Given the description of an element on the screen output the (x, y) to click on. 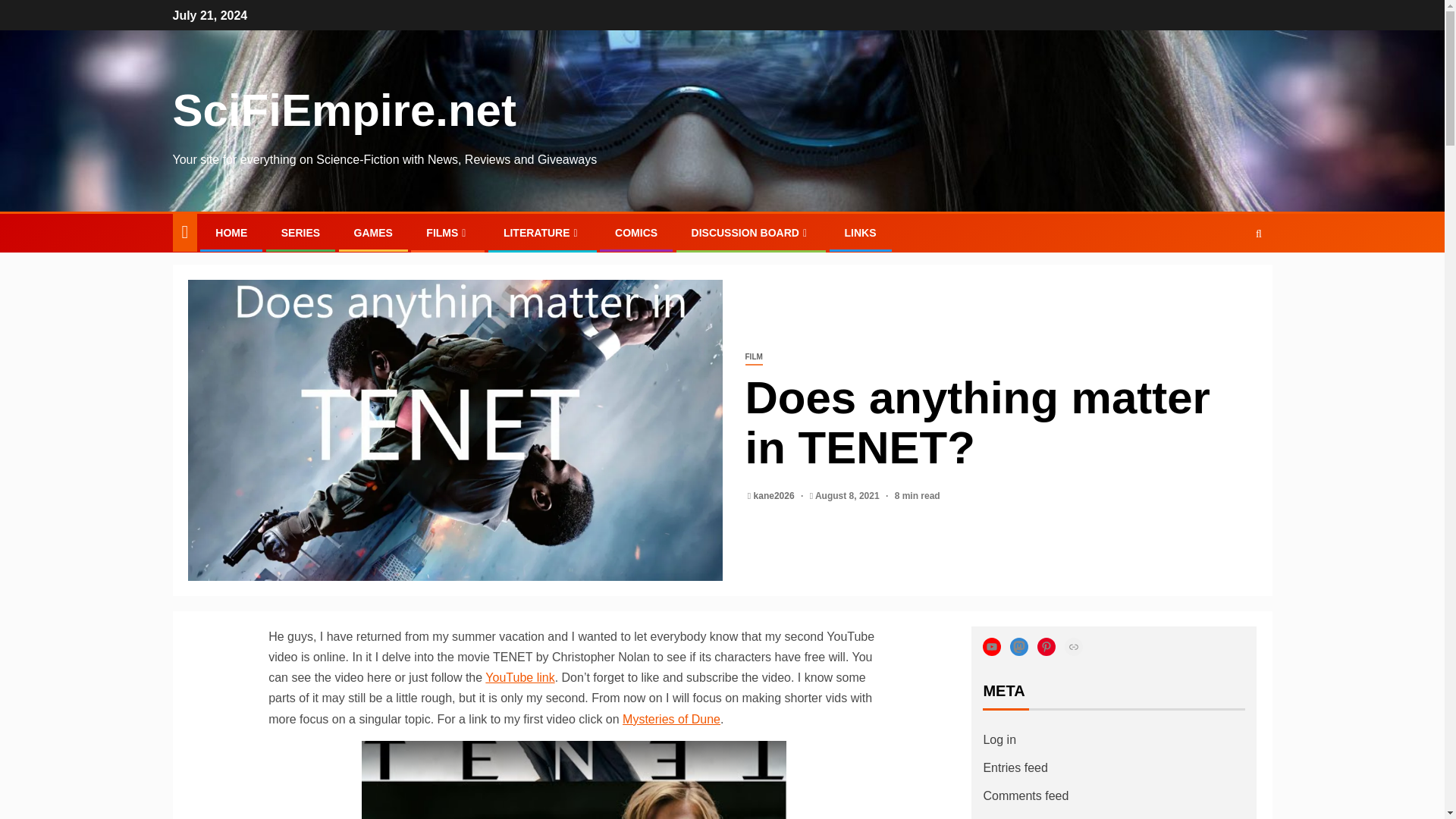
SciFiEmpire.net (344, 110)
COMICS (636, 232)
GAMES (373, 232)
FILMS (447, 232)
SERIES (300, 232)
HOME (231, 232)
DISCUSSION BOARD (750, 232)
LITERATURE (541, 232)
